Given the description of an element on the screen output the (x, y) to click on. 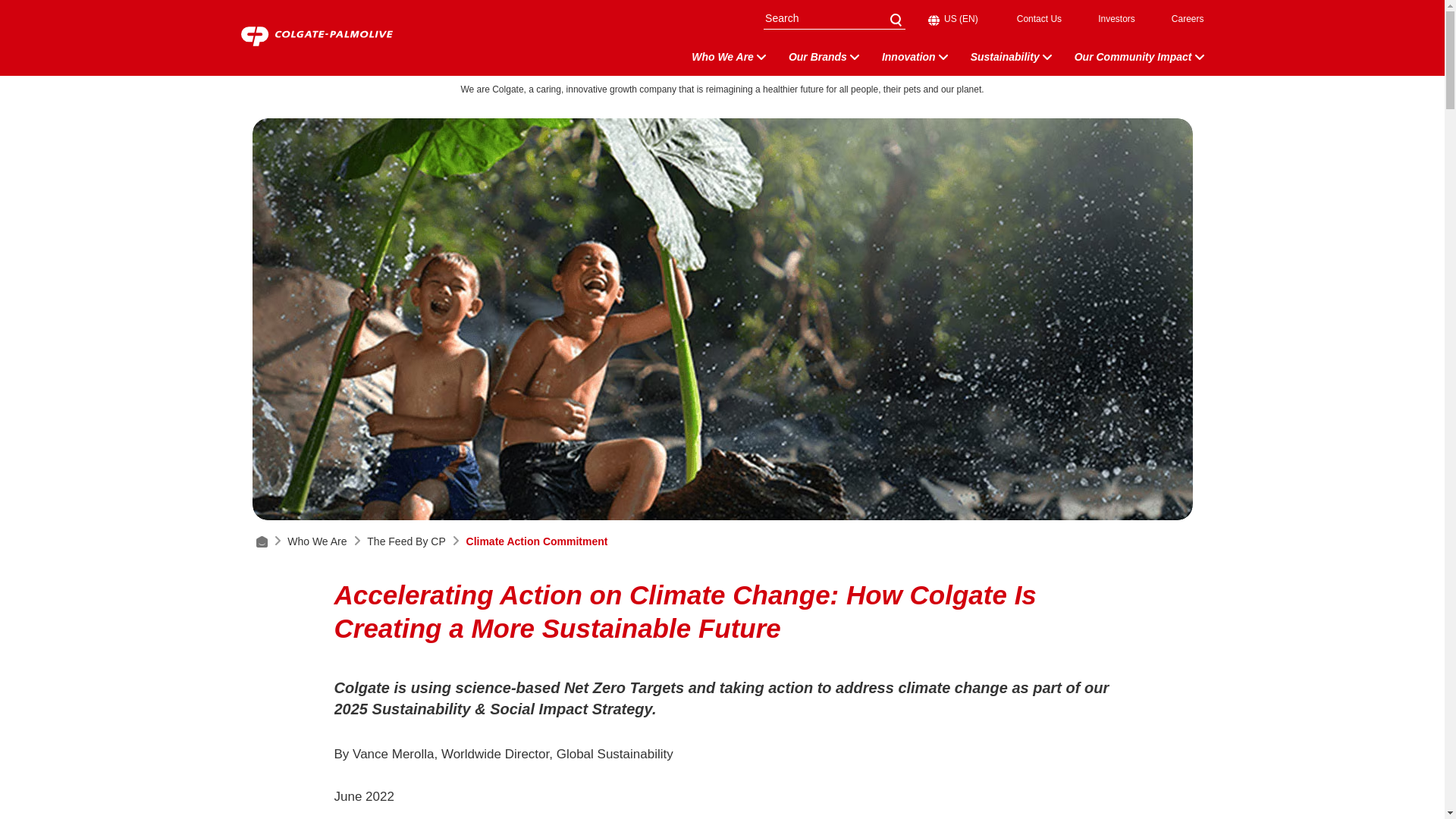
careers (1180, 19)
our locations worldwide (953, 19)
contact us (1031, 19)
investors (1109, 19)
